Given the description of an element on the screen output the (x, y) to click on. 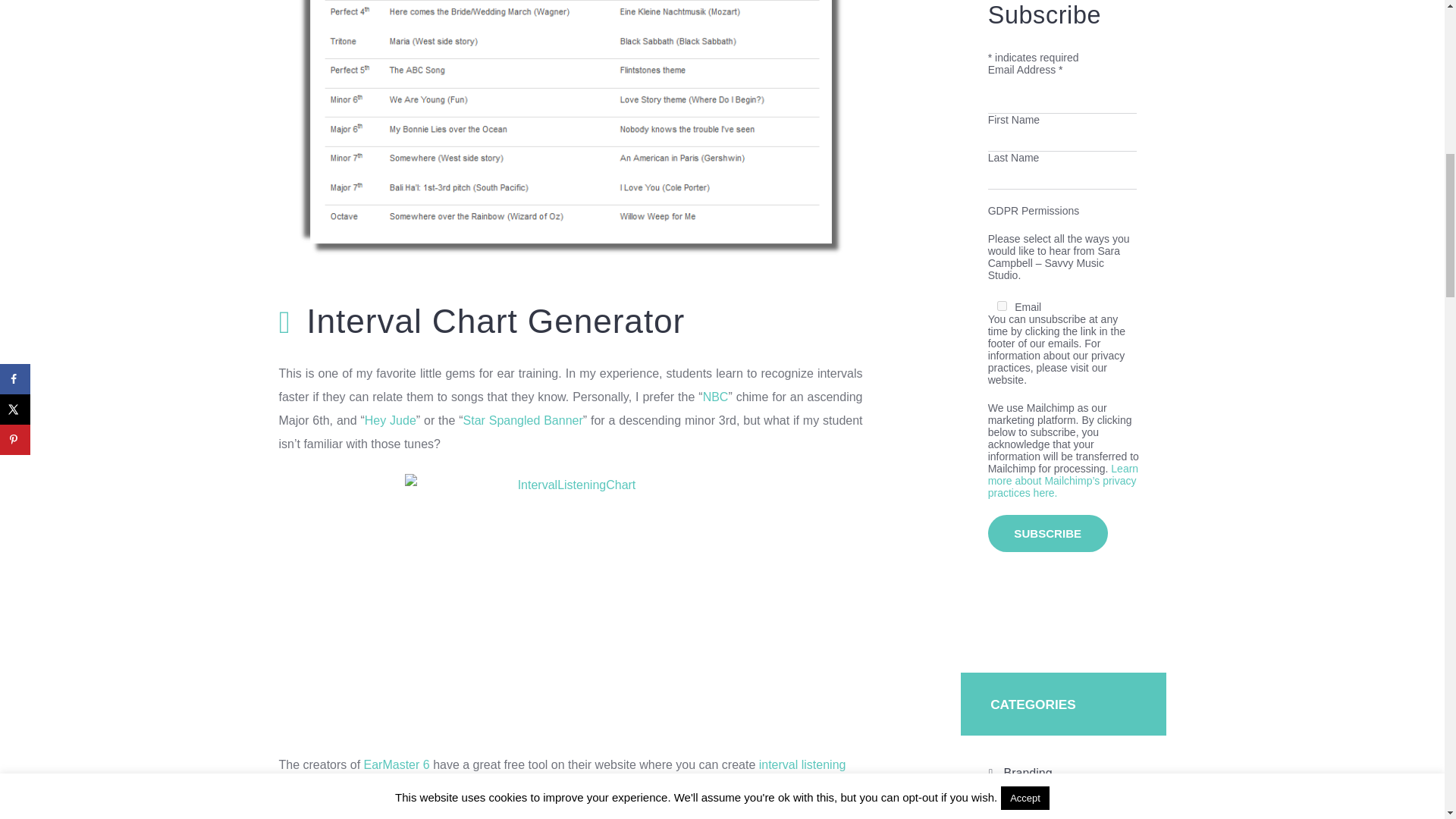
Subscribe (1048, 533)
Y (1002, 305)
